Given the description of an element on the screen output the (x, y) to click on. 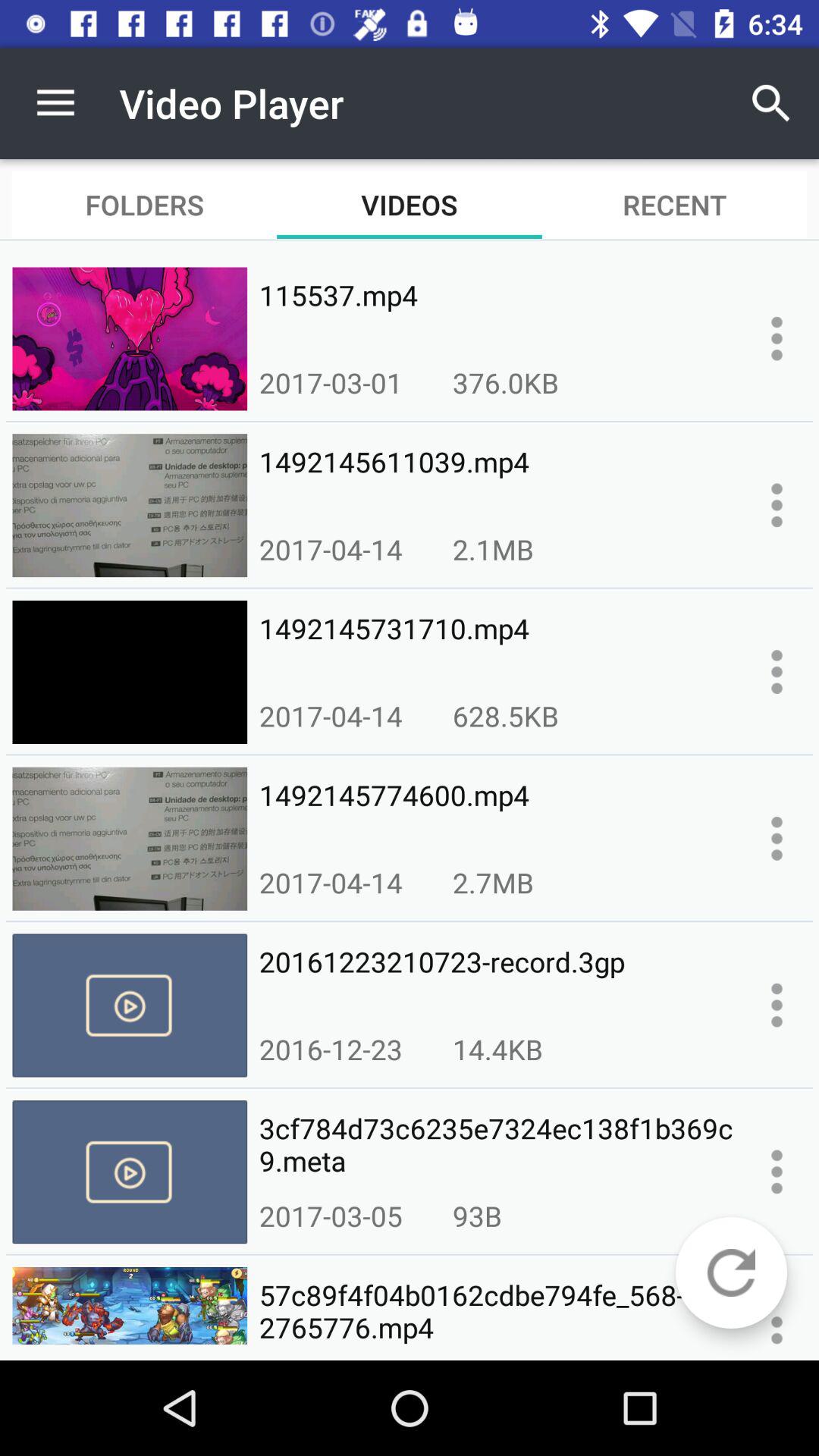
turn on item below 20161223210723-record.3gp item (497, 1049)
